Given the description of an element on the screen output the (x, y) to click on. 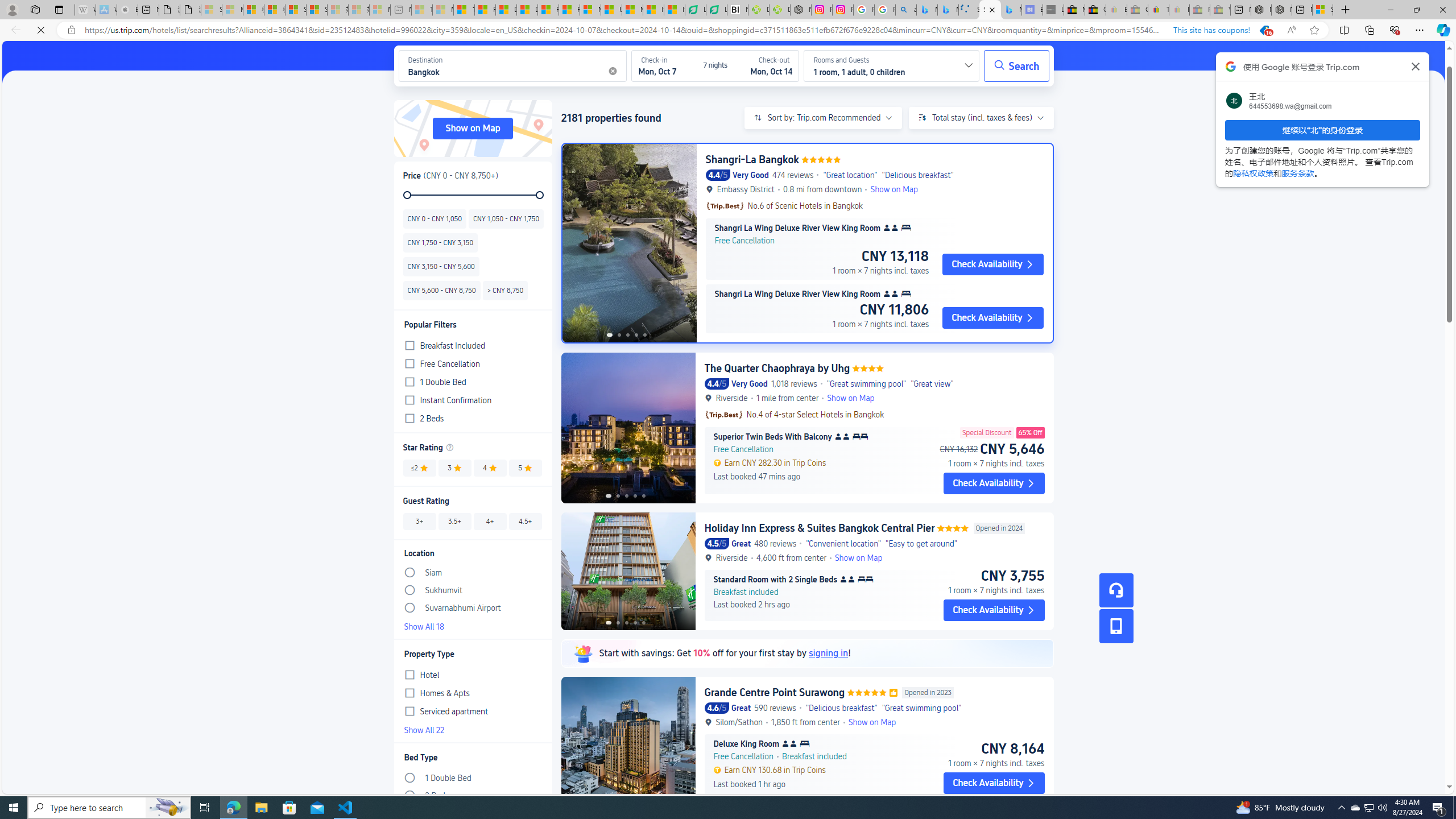
590 reviews (775, 707)
The Quarter Chaophraya by Uhg (777, 367)
Payments Terms of Use | eBay.com - Sleeping (1178, 9)
Descarga Driver Updater (779, 9)
Microsoft Bing Travel - Flights from Hong Kong to Bangkok (926, 9)
Marine life - MSN - Sleeping (443, 9)
